Given the description of an element on the screen output the (x, y) to click on. 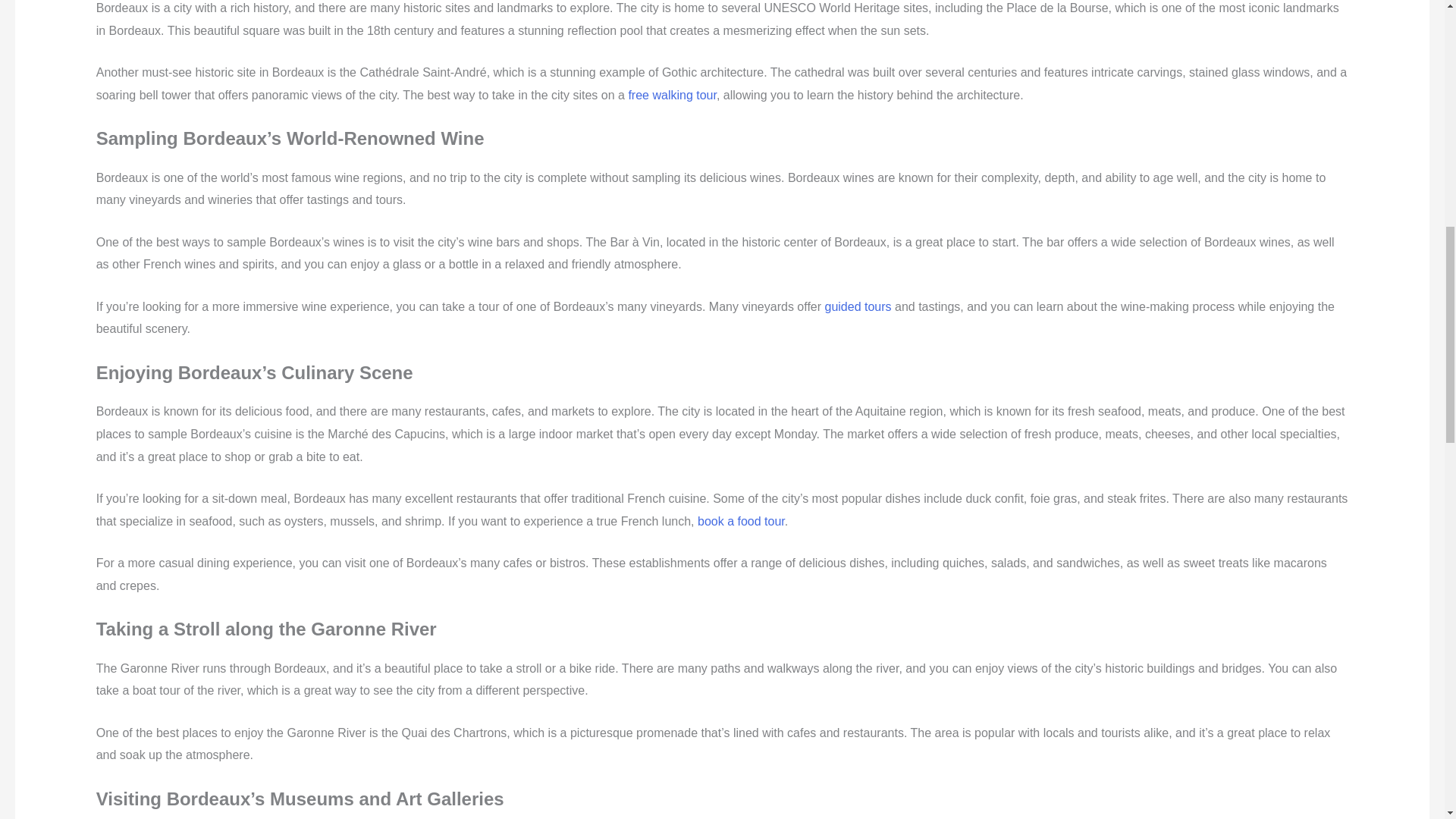
FareHarbor (1342, 64)
free walking tour (671, 94)
guided tours (858, 306)
book a food tour (740, 521)
